Given the description of an element on the screen output the (x, y) to click on. 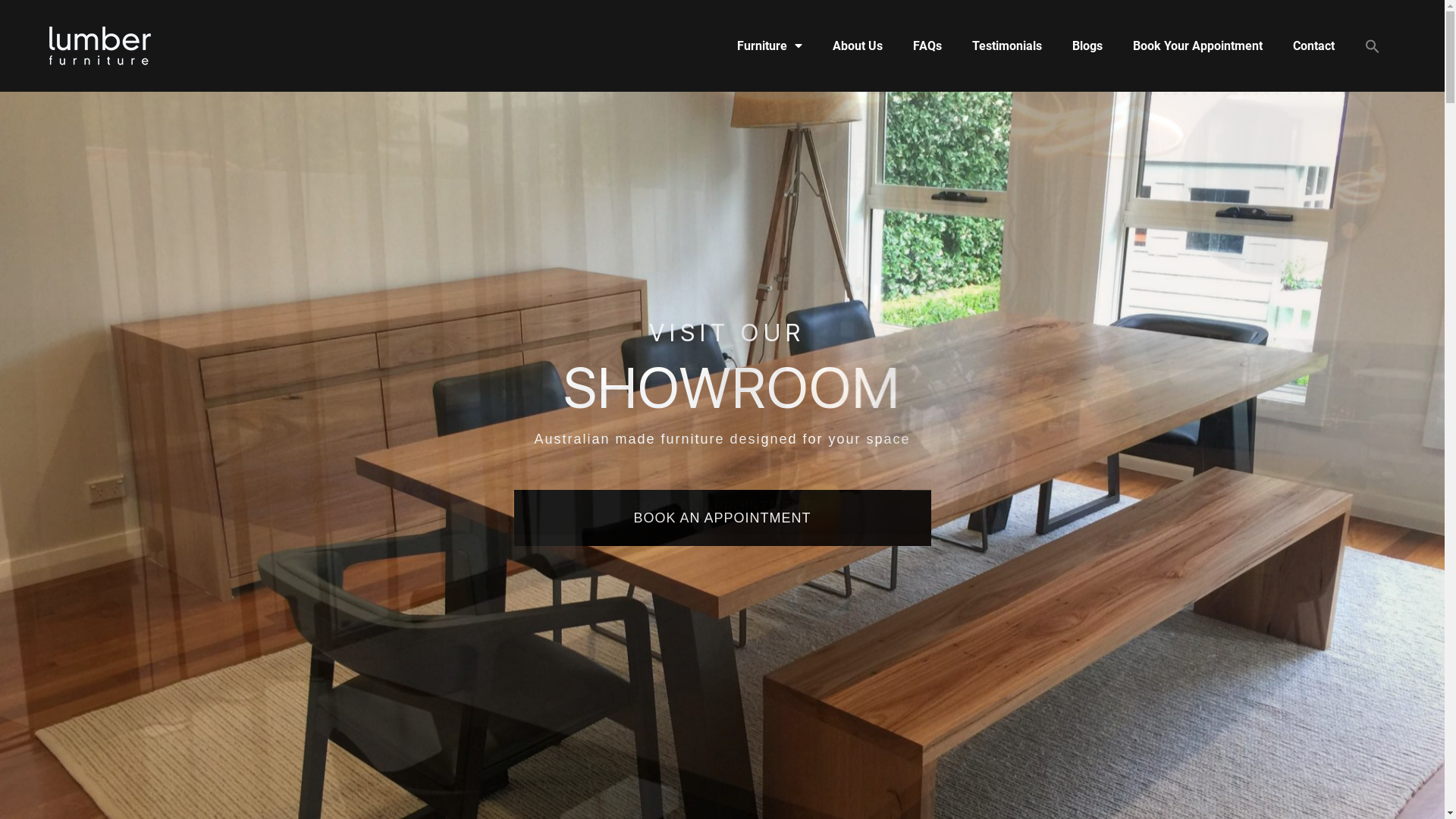
About Us Element type: text (857, 45)
BOOK AN APPOINTMENT Element type: text (722, 513)
Book Your Appointment Element type: text (1197, 45)
Testimonials Element type: text (1007, 45)
Furniture Element type: text (769, 45)
Contact Element type: text (1313, 45)
FAQs Element type: text (927, 45)
Blogs Element type: text (1087, 45)
